Given the description of an element on the screen output the (x, y) to click on. 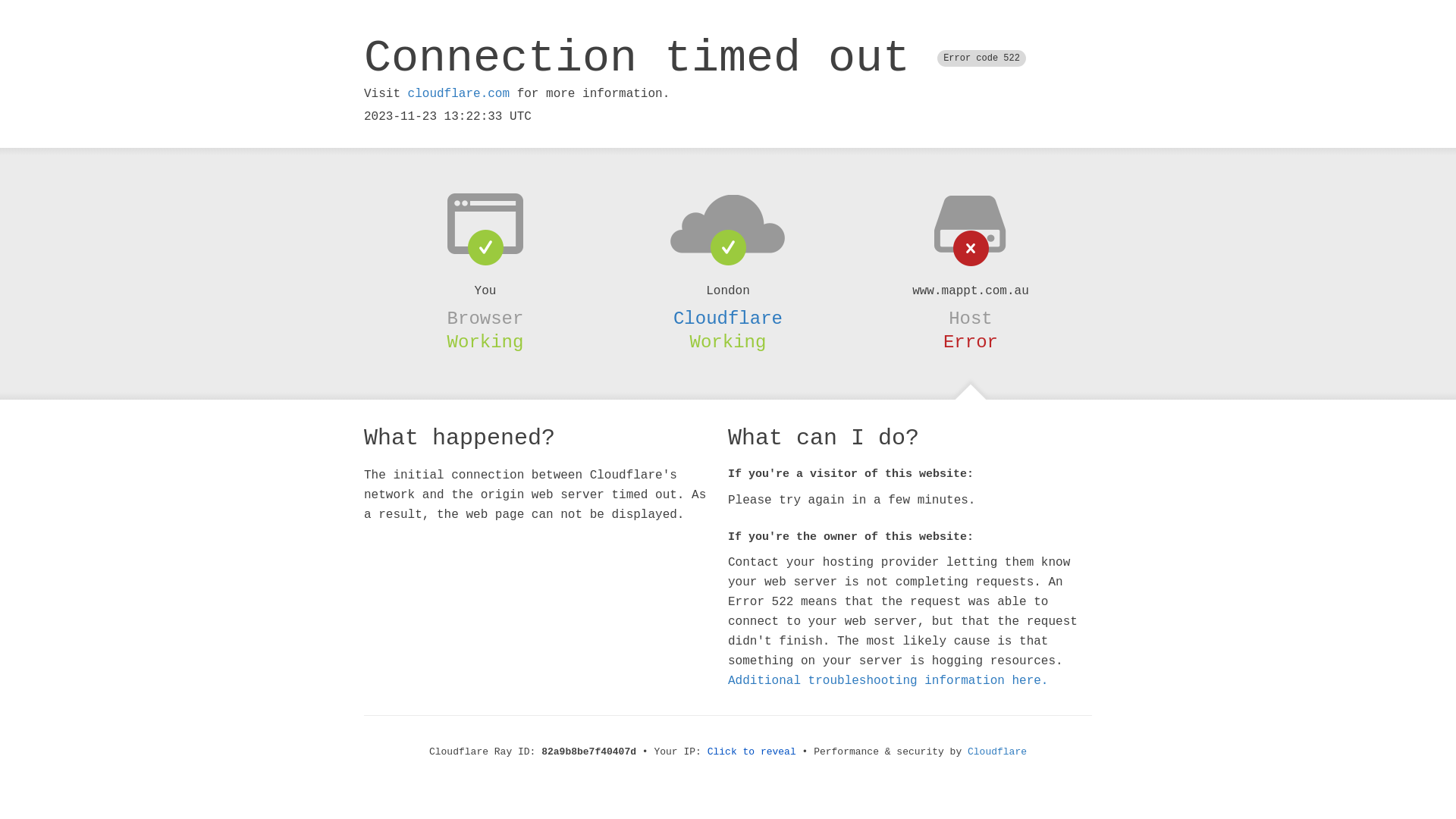
Cloudflare Element type: text (996, 751)
Cloudflare Element type: text (727, 318)
Click to reveal Element type: text (751, 751)
Additional troubleshooting information here. Element type: text (888, 680)
cloudflare.com Element type: text (458, 93)
